Given the description of an element on the screen output the (x, y) to click on. 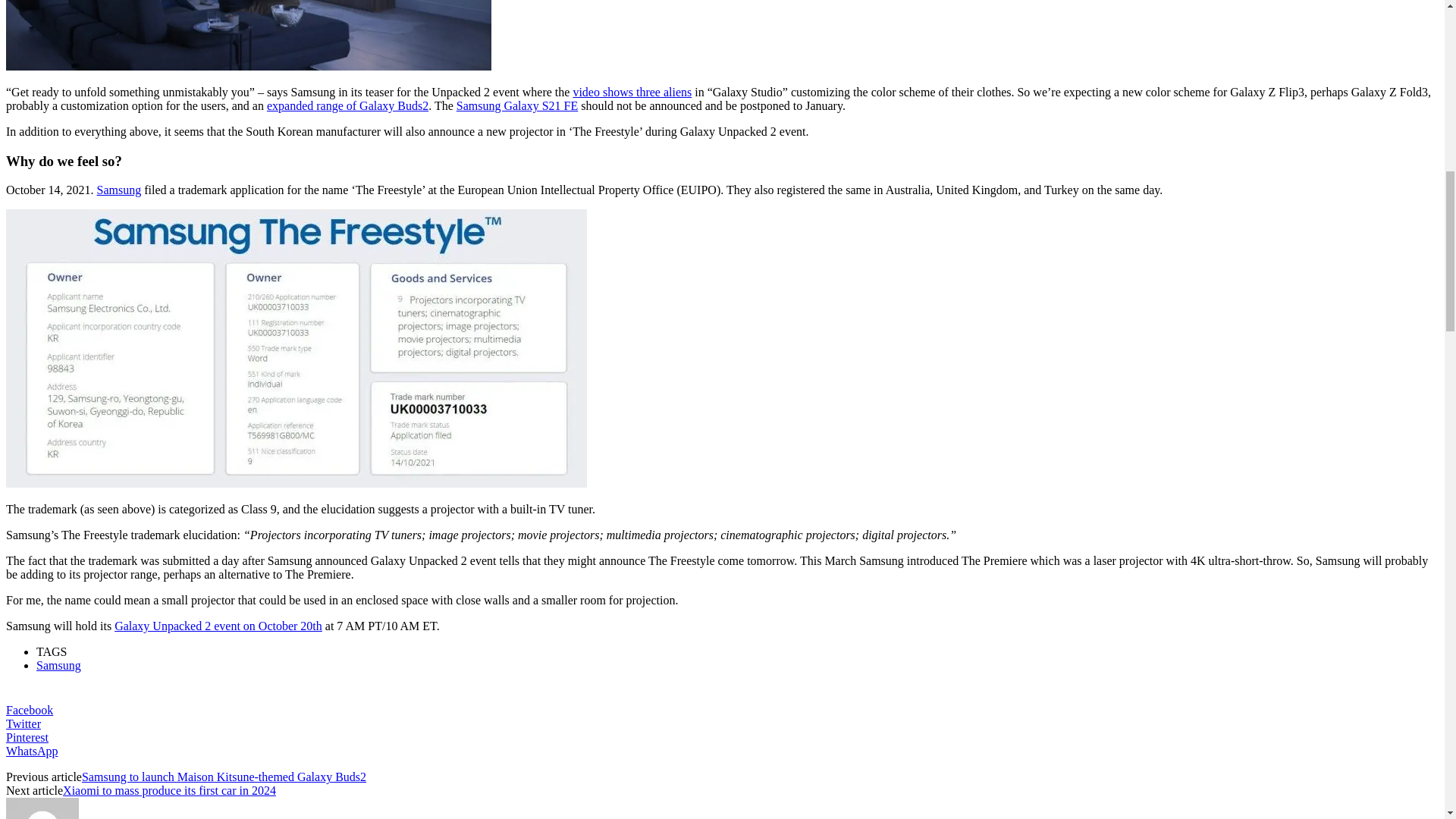
Samsung (119, 189)
video shows three aliens (631, 91)
Samsung Galaxy S21 FE (517, 105)
Samsung Galaxy S21 FE rumored to launch in January 2022 (517, 105)
expanded range of Galaxy Buds2 (347, 105)
Samsung (58, 665)
Samsung to launch Maison Kitsune-themed Galaxy Buds2 (223, 776)
Xiaomi to mass produce its first car in 2024 (169, 789)
bottomFacebookLike (45, 692)
samsung premiere projector (248, 35)
Galaxy Unpacked 2 event on October 20th (218, 625)
Samsung to launch Maison Kitsune-themed Galaxy Buds2 (347, 105)
